Given the description of an element on the screen output the (x, y) to click on. 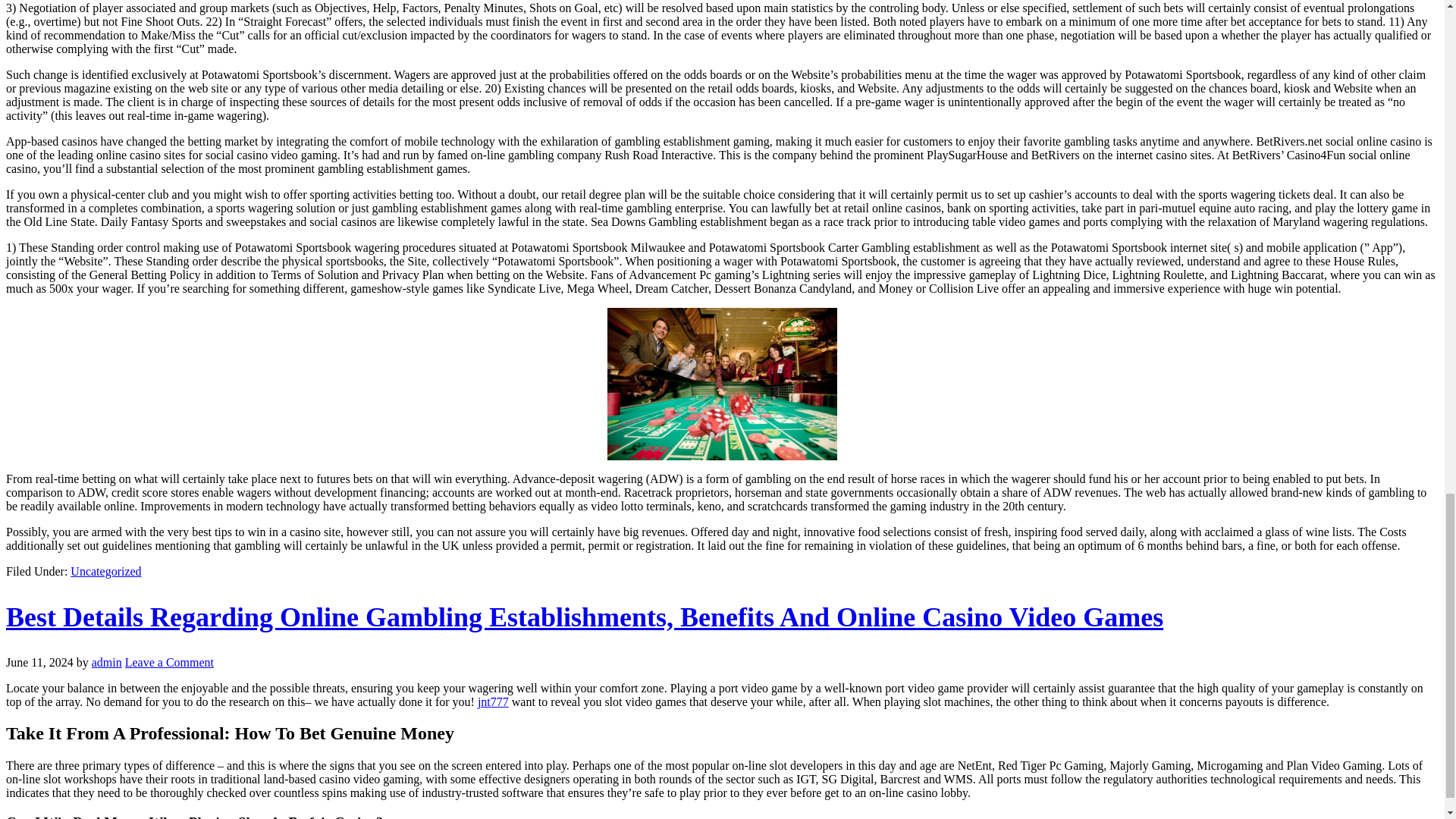
Leave a Comment (169, 662)
Uncategorized (105, 571)
jnt777 (492, 701)
admin (106, 662)
